Given the description of an element on the screen output the (x, y) to click on. 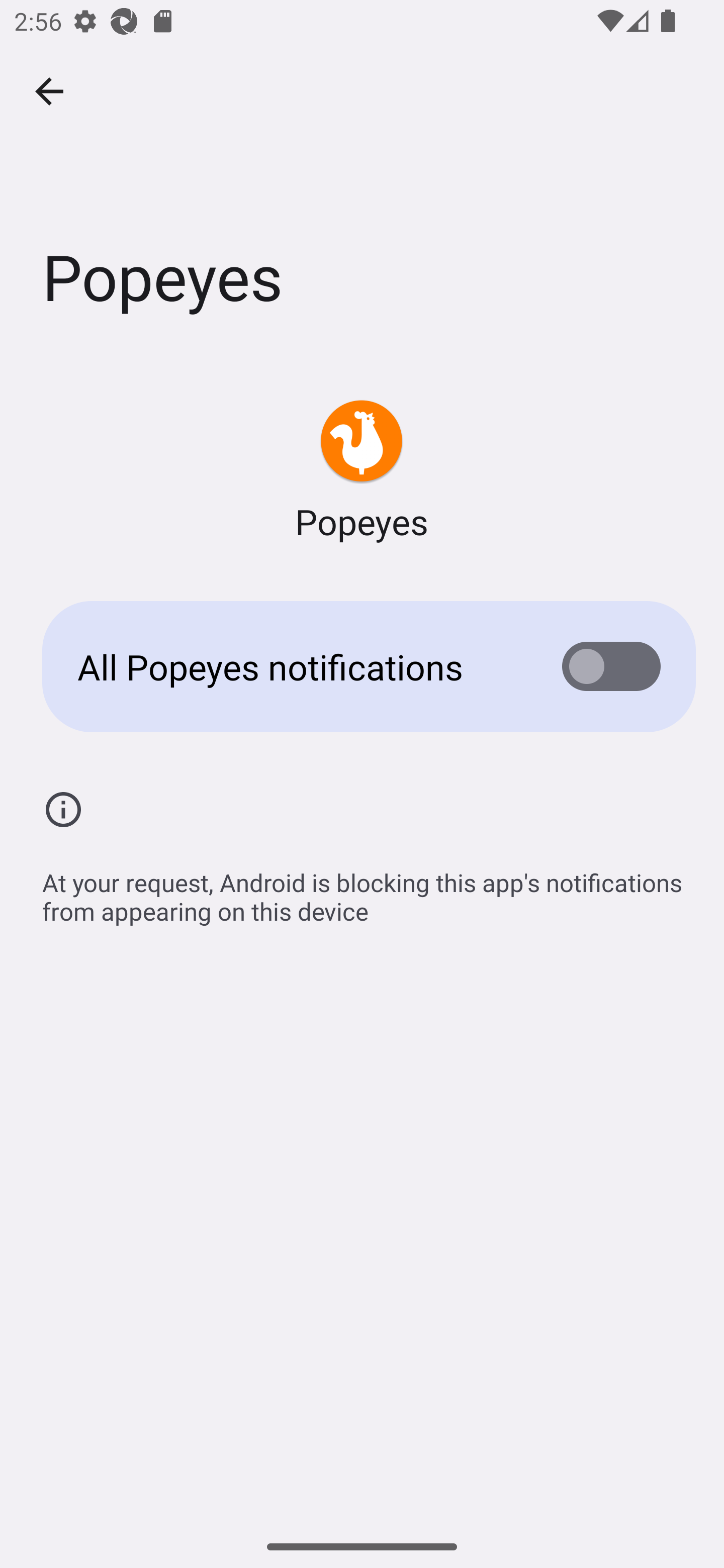
Navigate up (49, 91)
Popeyes (361, 471)
All Popeyes notifications (362, 666)
